Given the description of an element on the screen output the (x, y) to click on. 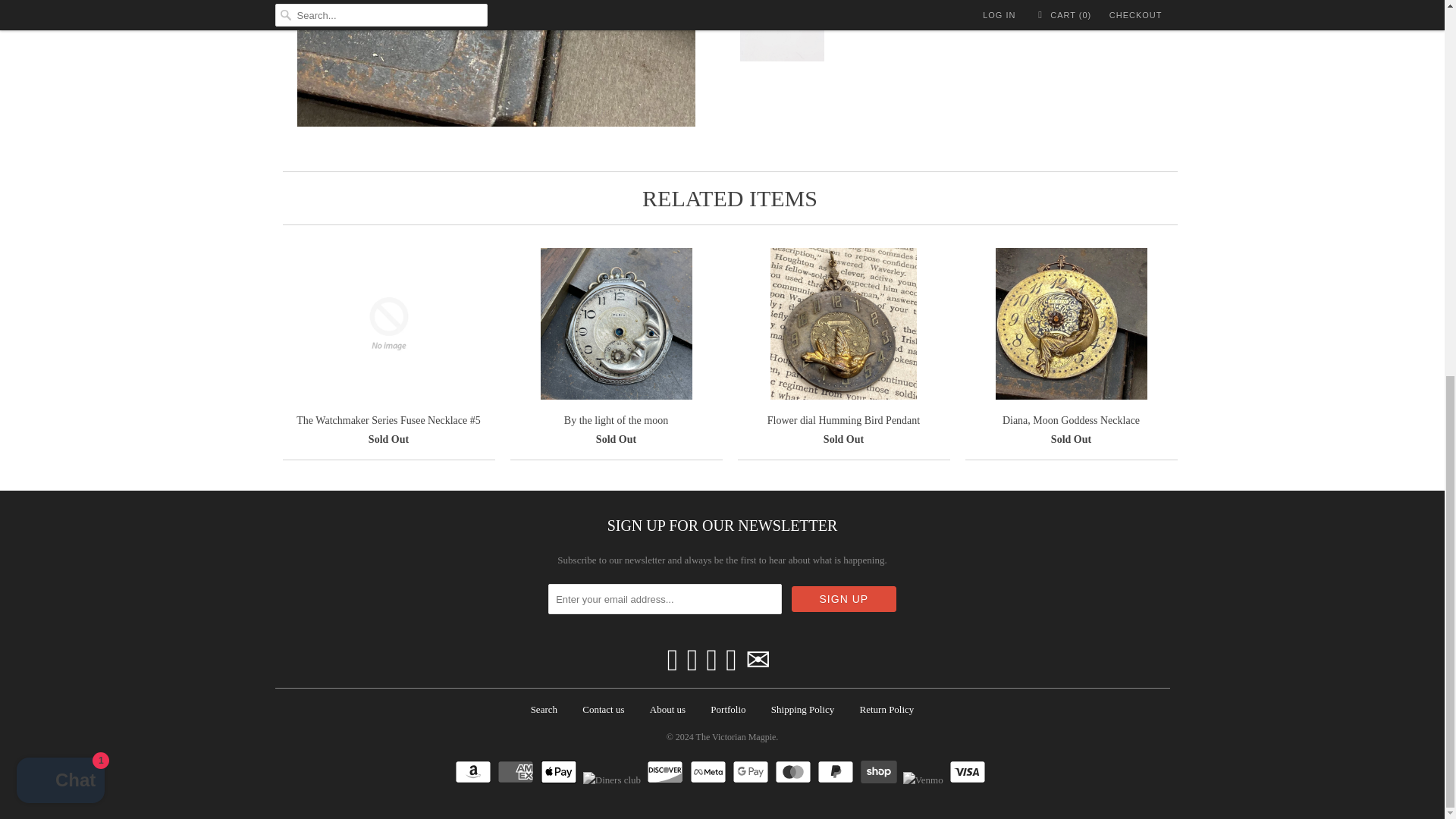
Sign Up (844, 598)
Parisa, Cherub Necklace - The Victorian Magpie (496, 63)
